Given the description of an element on the screen output the (x, y) to click on. 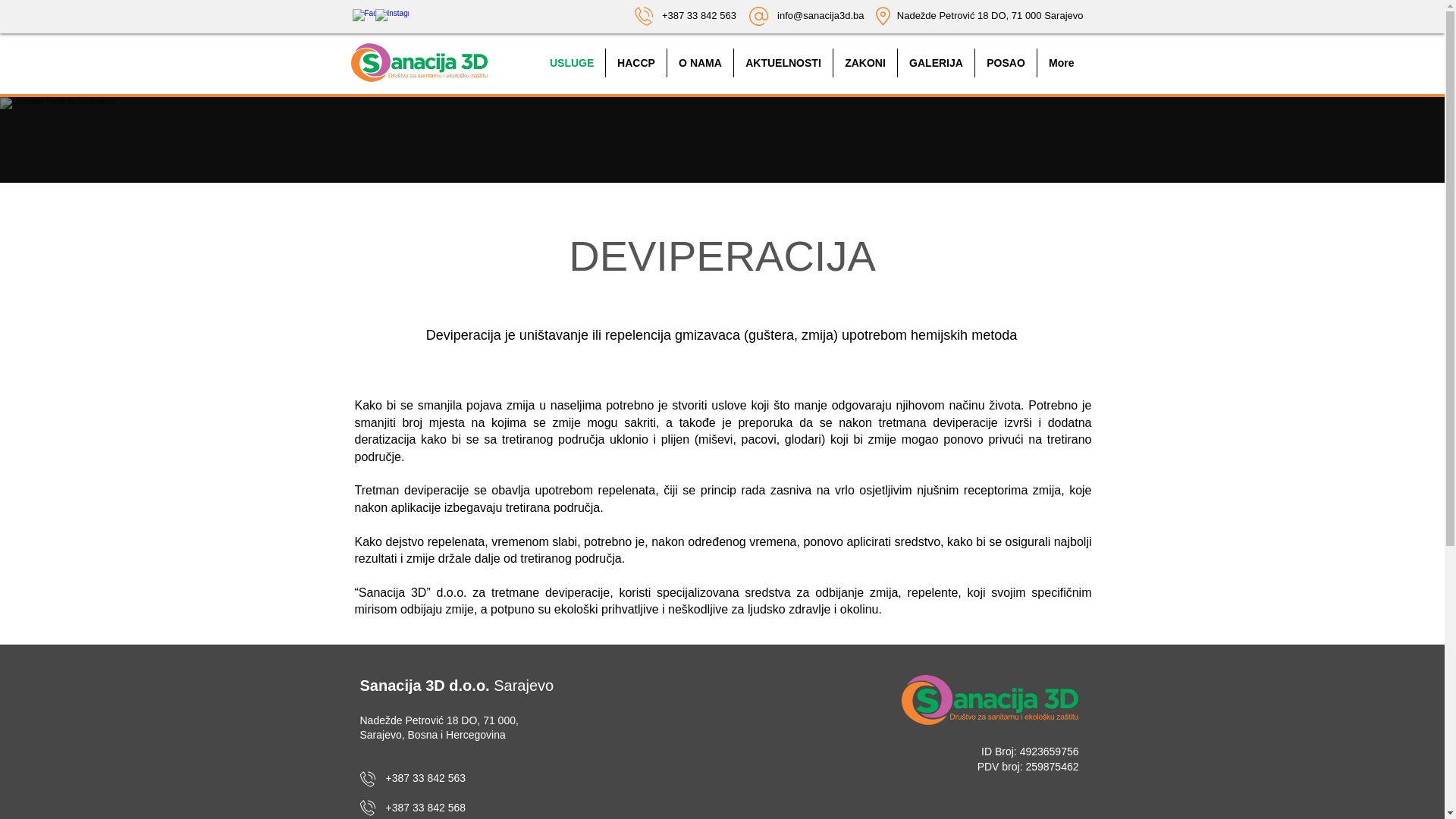
AKTUELNOSTI Element type: text (783, 62)
O NAMA Element type: text (700, 62)
USLUGE Element type: text (571, 62)
GALERIJA Element type: text (935, 62)
info@sanacija3d.ba Element type: text (820, 15)
HACCP Element type: text (635, 62)
ZAKONI Element type: text (865, 62)
POSAO Element type: text (1005, 62)
